Given the description of an element on the screen output the (x, y) to click on. 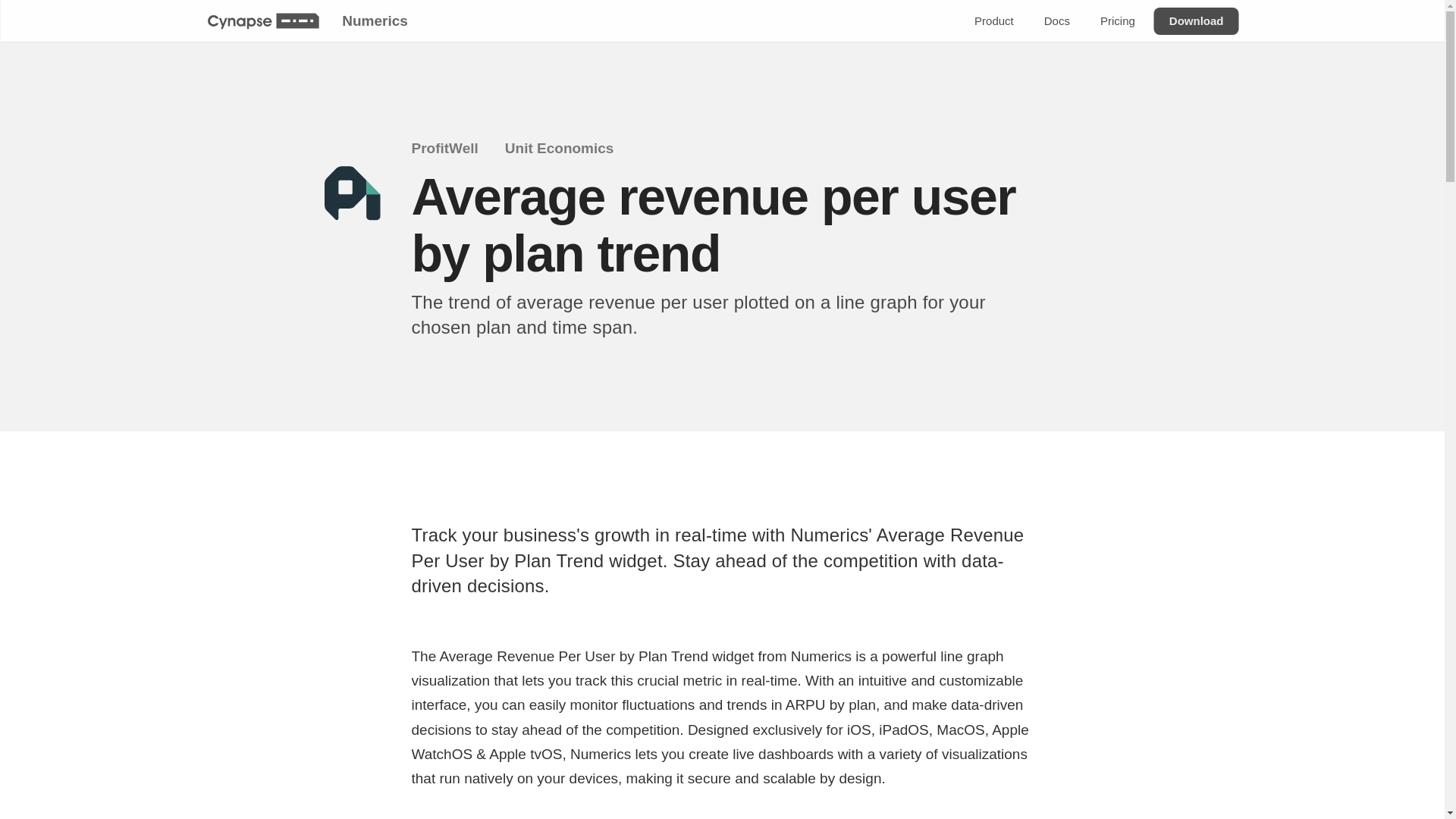
Docs (1056, 21)
Unit Economics (569, 148)
ProfitWell (453, 148)
Pricing (1116, 21)
Product (993, 21)
Download (1196, 21)
Numerics (373, 20)
